Given the description of an element on the screen output the (x, y) to click on. 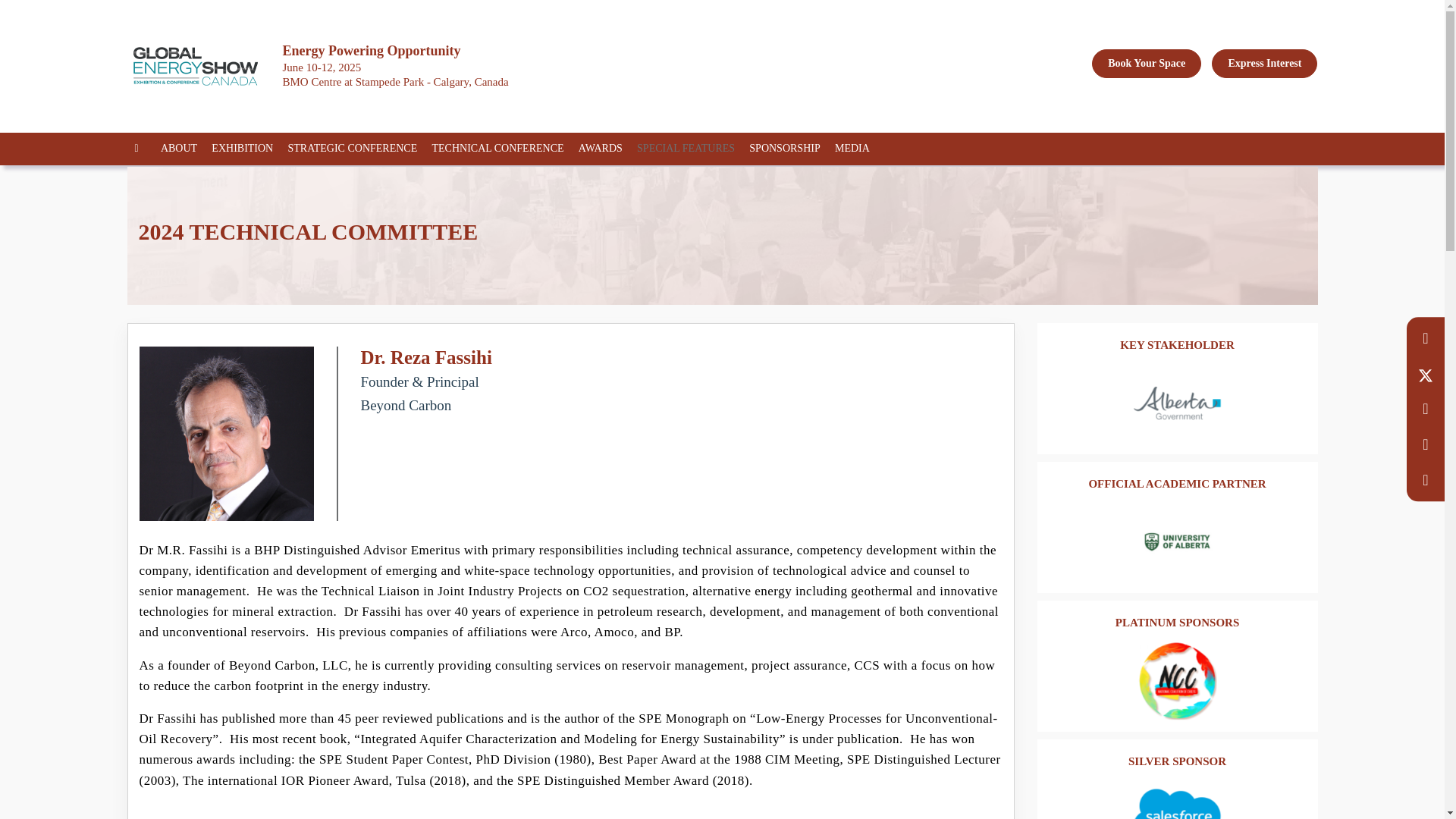
EXHIBITION (247, 148)
Express Interest (1264, 63)
TECHNICAL CONFERENCE (502, 148)
Book Your Space (1146, 63)
AWARDS (605, 148)
SPECIAL FEATURES (691, 148)
ABOUT (184, 148)
STRATEGIC CONFERENCE (357, 148)
